Given the description of an element on the screen output the (x, y) to click on. 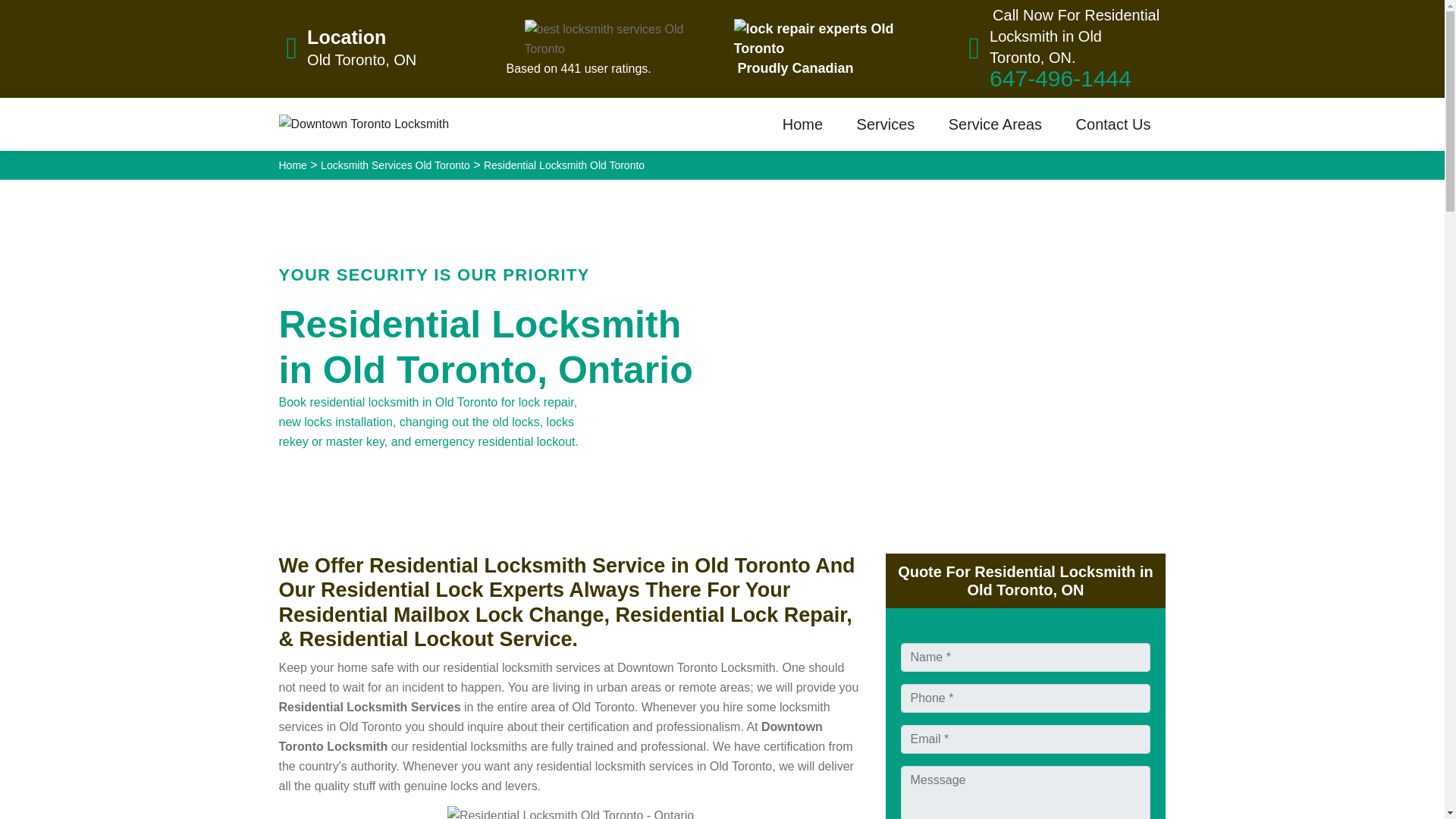
647-496-1444 (1060, 78)
Services (885, 124)
Home (802, 124)
Service Areas (995, 124)
Contact Us (1113, 124)
